Given the description of an element on the screen output the (x, y) to click on. 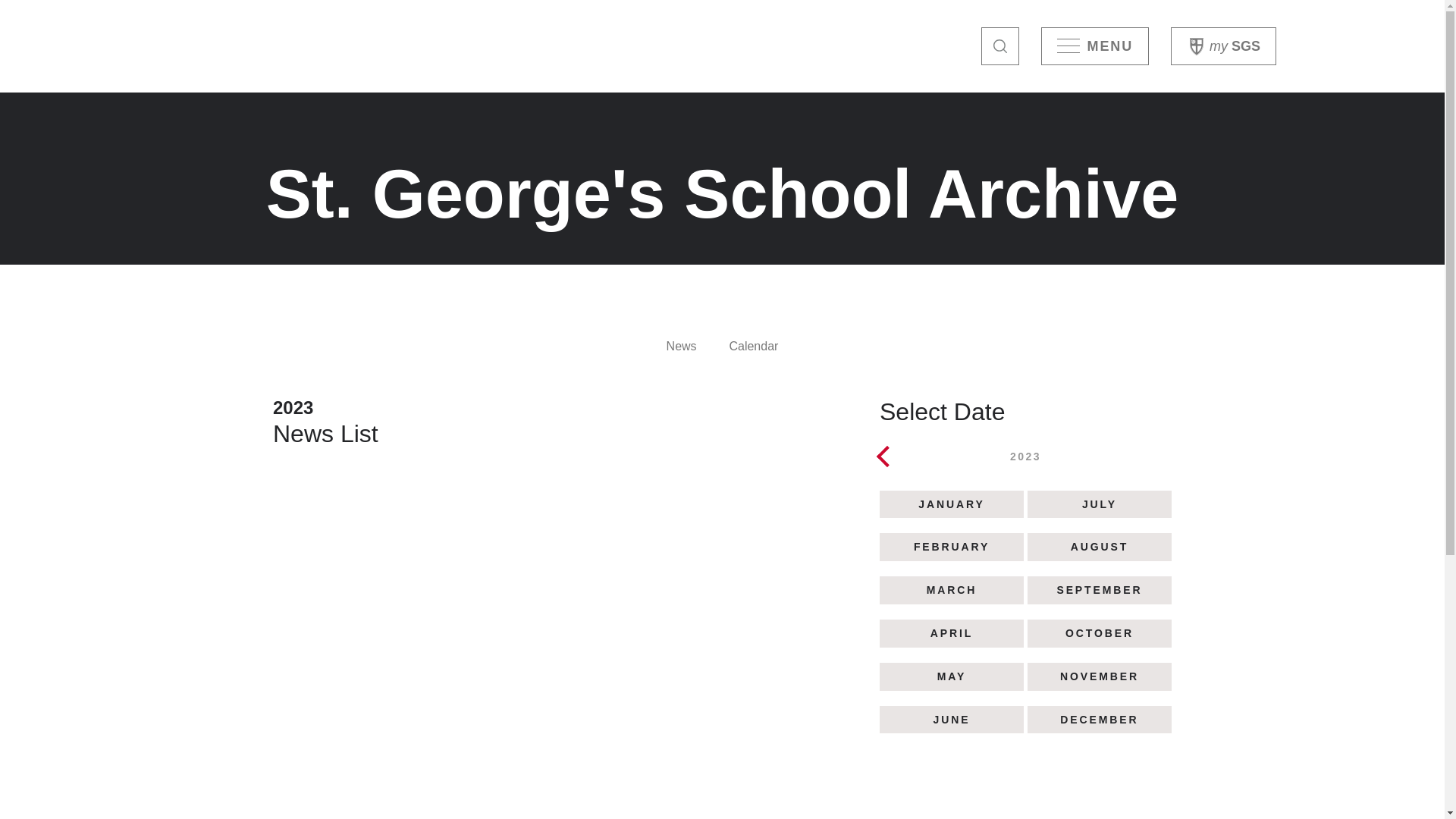
< Element type: text (883, 452)
SGS Element type: text (1223, 46)
JULY Element type: text (1099, 504)
Go Element type: text (1000, 46)
NOVEMBER Element type: text (1099, 676)
DECEMBER Element type: text (1099, 720)
SEPTEMBER Element type: text (1099, 590)
JANUARY Element type: text (951, 504)
MENU Element type: text (1094, 46)
Calendar Element type: text (753, 345)
APRIL Element type: text (951, 633)
News Element type: text (681, 345)
AUGUST Element type: text (1099, 547)
JUNE Element type: text (951, 720)
OCTOBER Element type: text (1099, 633)
FEBRUARY Element type: text (951, 547)
MARCH Element type: text (951, 590)
MAY Element type: text (951, 676)
